Given the description of an element on the screen output the (x, y) to click on. 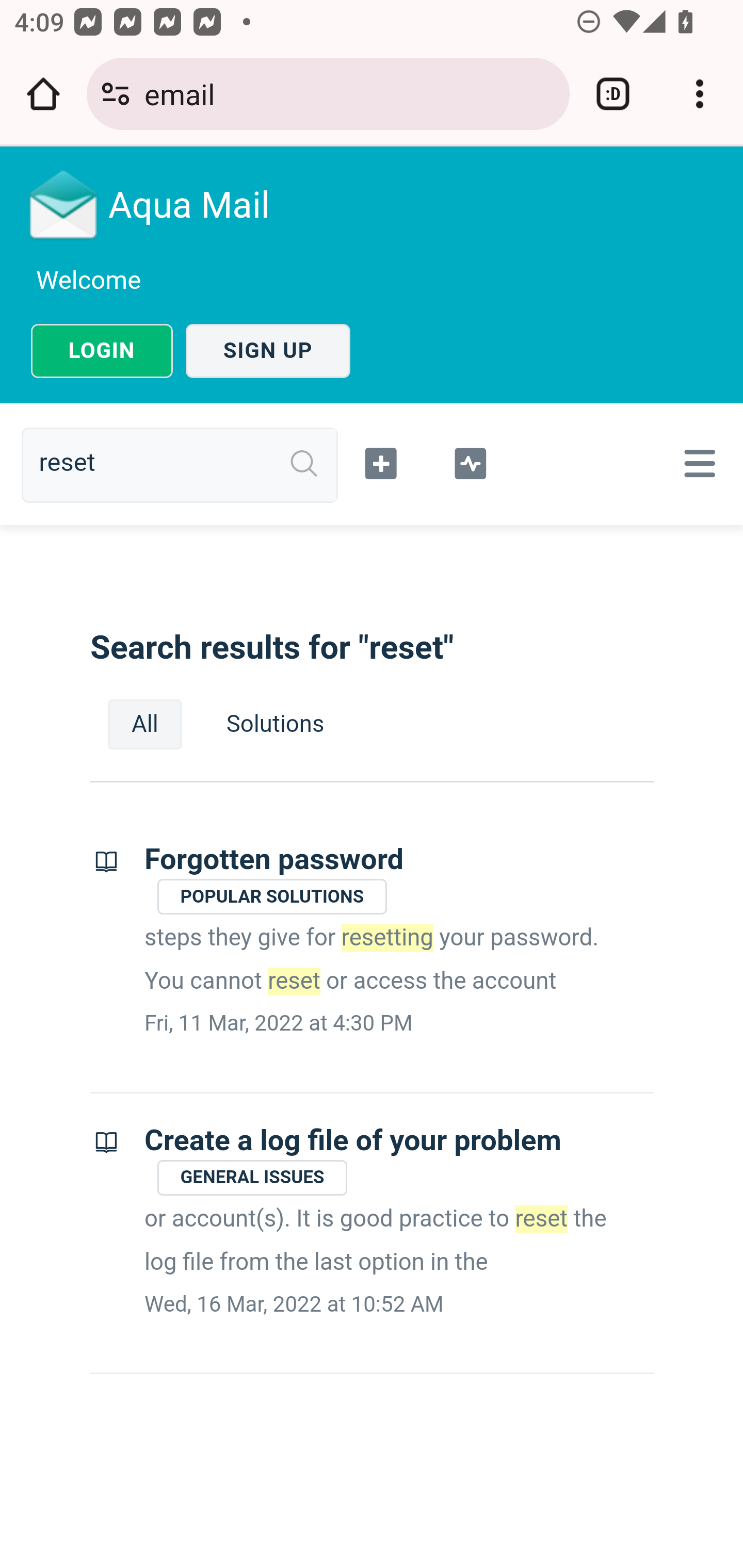
Open the home page (43, 93)
Connection is secure (115, 93)
Switch or close tabs (612, 93)
Customize and control Google Chrome (699, 93)
email (349, 92)
Logo (63, 204)
LOGIN (101, 351)
SIGN UP (268, 351)
 (695, 463)
reset (187, 464)
Search (304, 464)
 (381, 460)
 (470, 460)
Forgotten password (274, 860)
Create a log file of your problem (353, 1140)
